Given the description of an element on the screen output the (x, y) to click on. 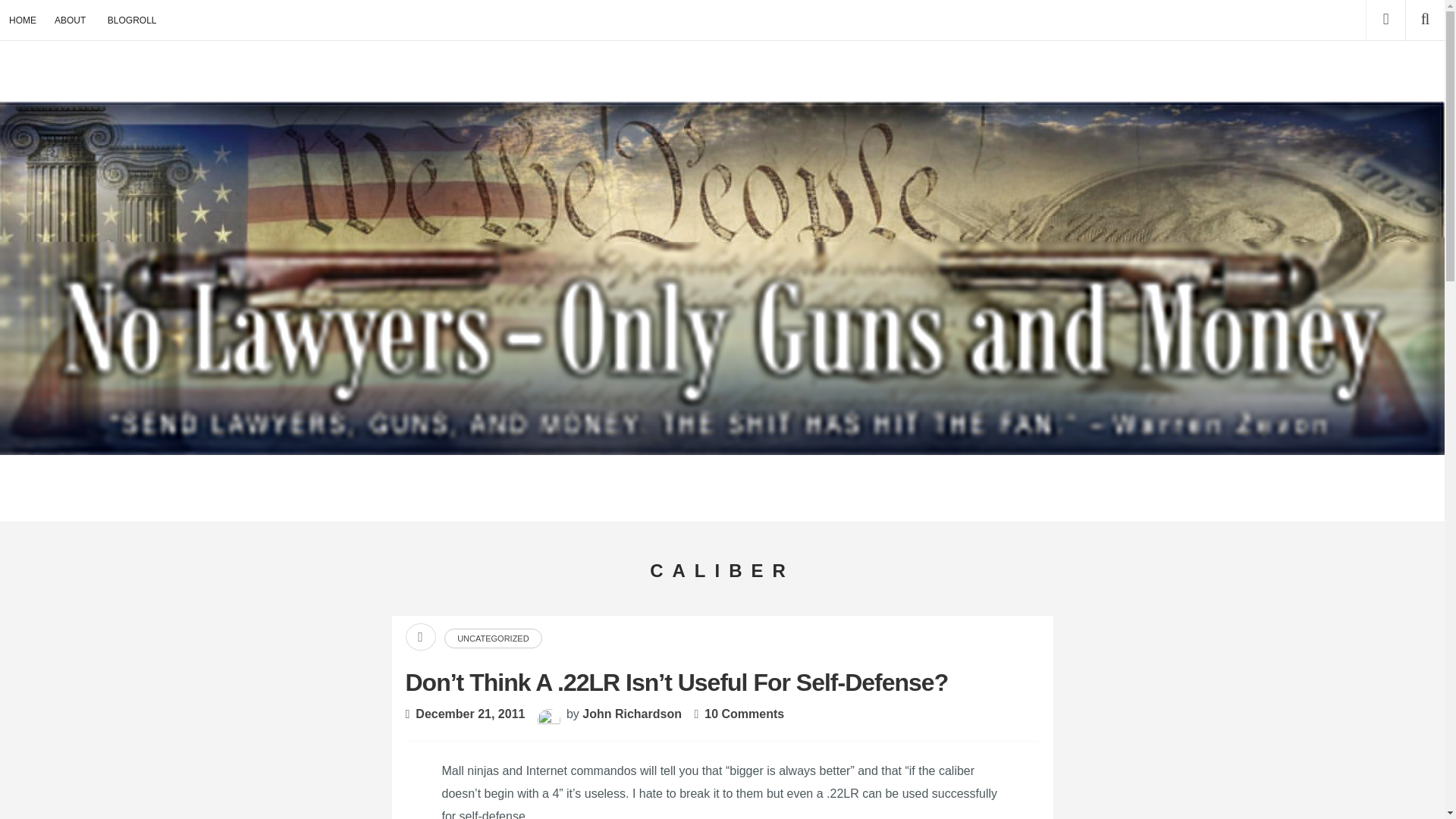
HOME (22, 20)
John Richardson (631, 713)
social network accounts (1385, 20)
Social (1385, 20)
ABOUT (69, 20)
10 Comments (744, 713)
UNCATEGORIZED (492, 638)
December 21, 2011 (470, 713)
Posts by John Richardson (631, 713)
View all posts in Uncategorized (492, 638)
